Given the description of an element on the screen output the (x, y) to click on. 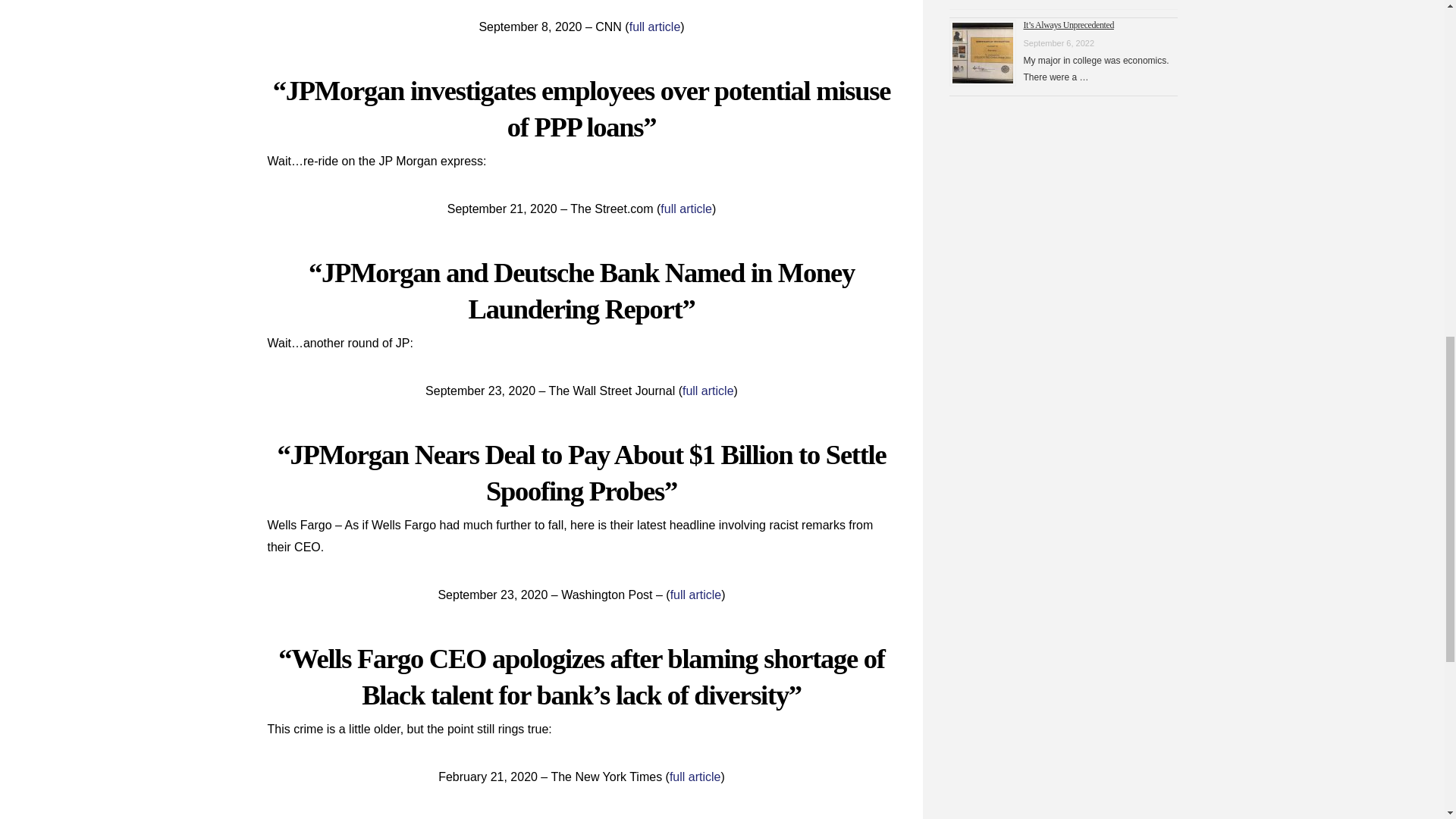
full article (654, 26)
full article (695, 594)
full article (694, 776)
full article (707, 390)
full article (686, 208)
